Given the description of an element on the screen output the (x, y) to click on. 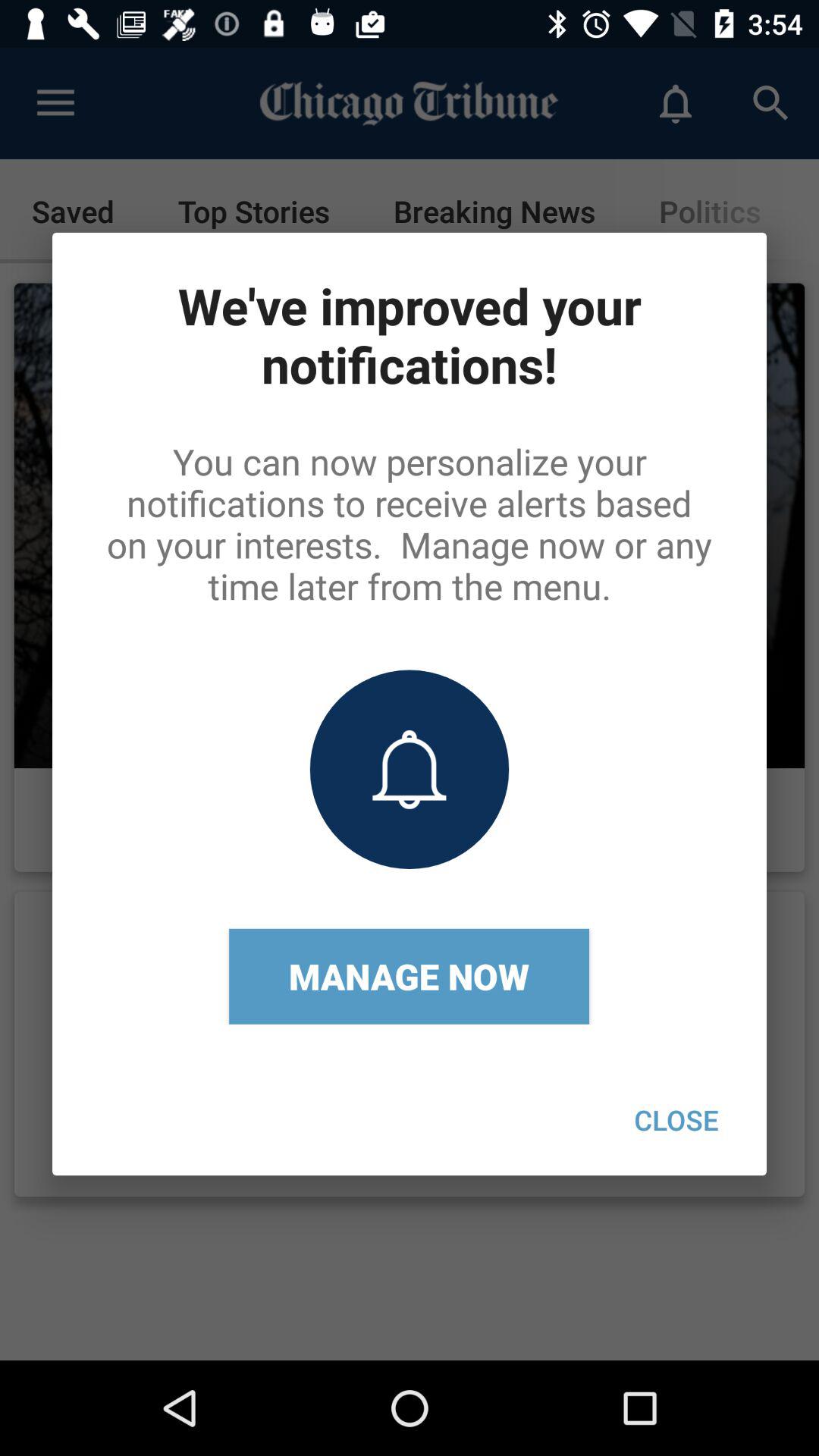
turn on the close (676, 1119)
